Given the description of an element on the screen output the (x, y) to click on. 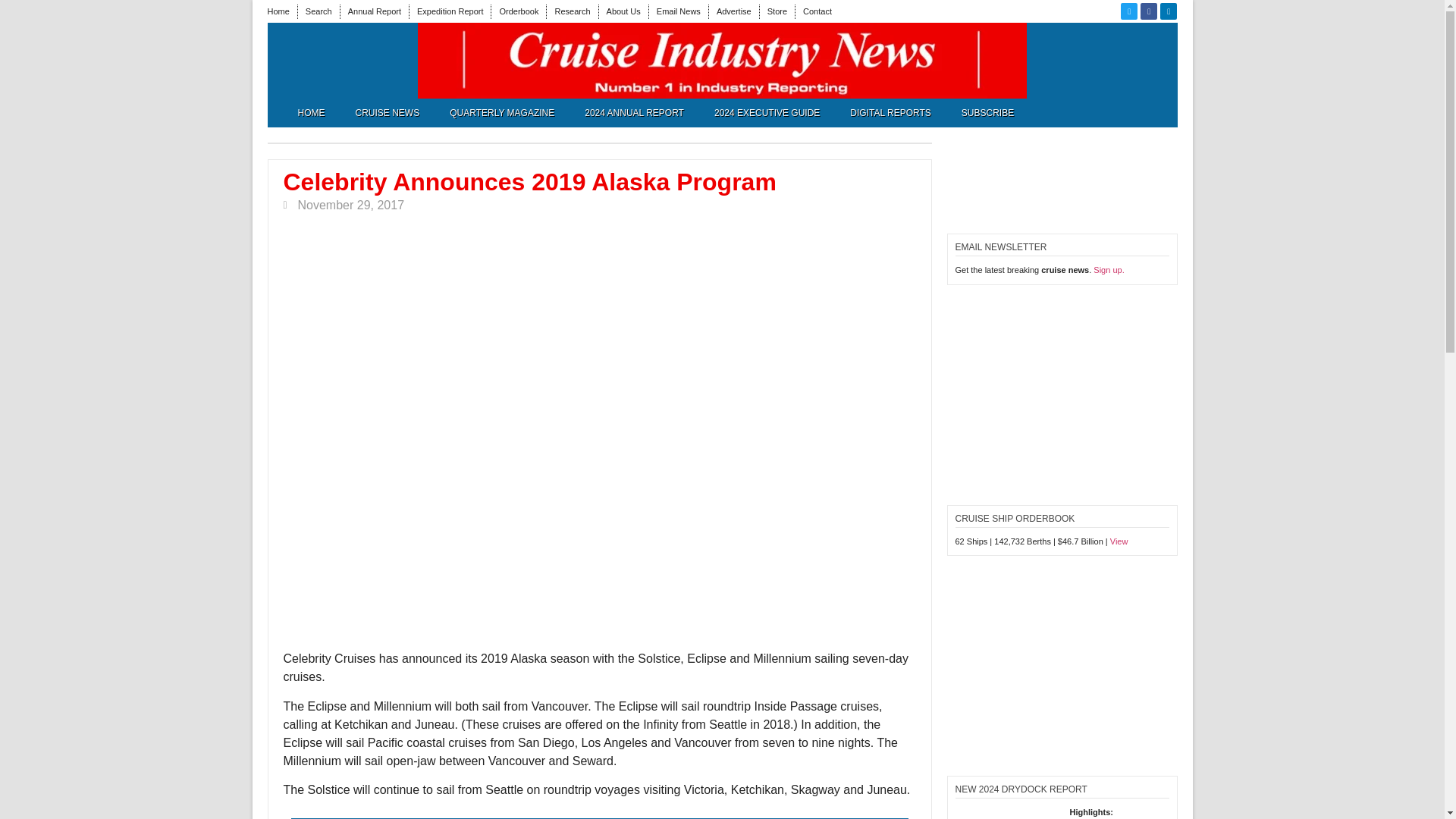
CRUISE NEWS (386, 112)
Contact (817, 11)
QUARTERLY MAGAZINE (501, 112)
Expedition Report (449, 11)
Search (318, 11)
HOME (310, 112)
Research (571, 11)
Email News (678, 11)
About Us (623, 11)
Orderbook (518, 11)
Home (277, 11)
Store (777, 11)
Advertise (733, 11)
Annual Report (374, 11)
